Given the description of an element on the screen output the (x, y) to click on. 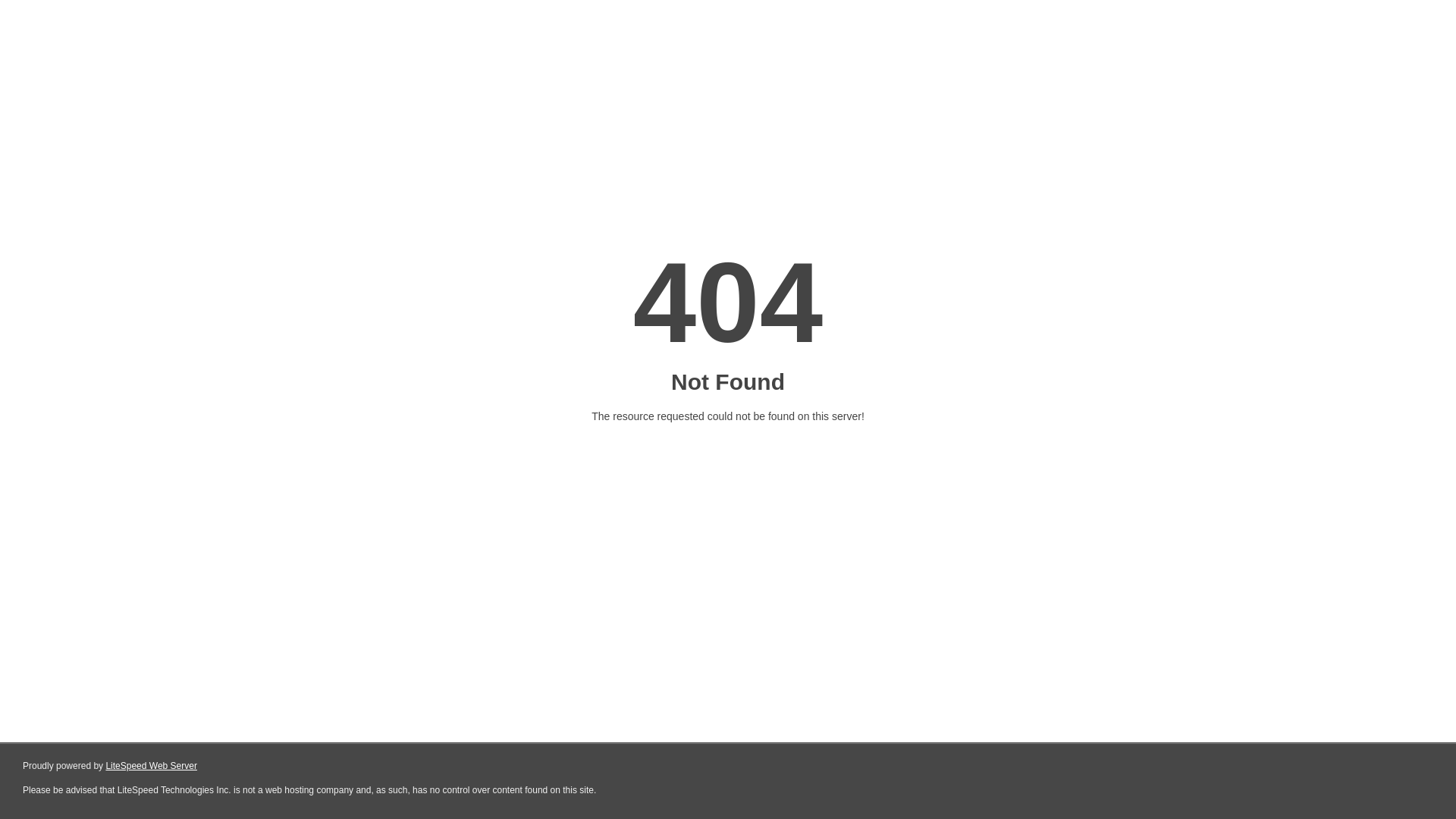
LiteSpeed Web Server Element type: text (151, 765)
